Given the description of an element on the screen output the (x, y) to click on. 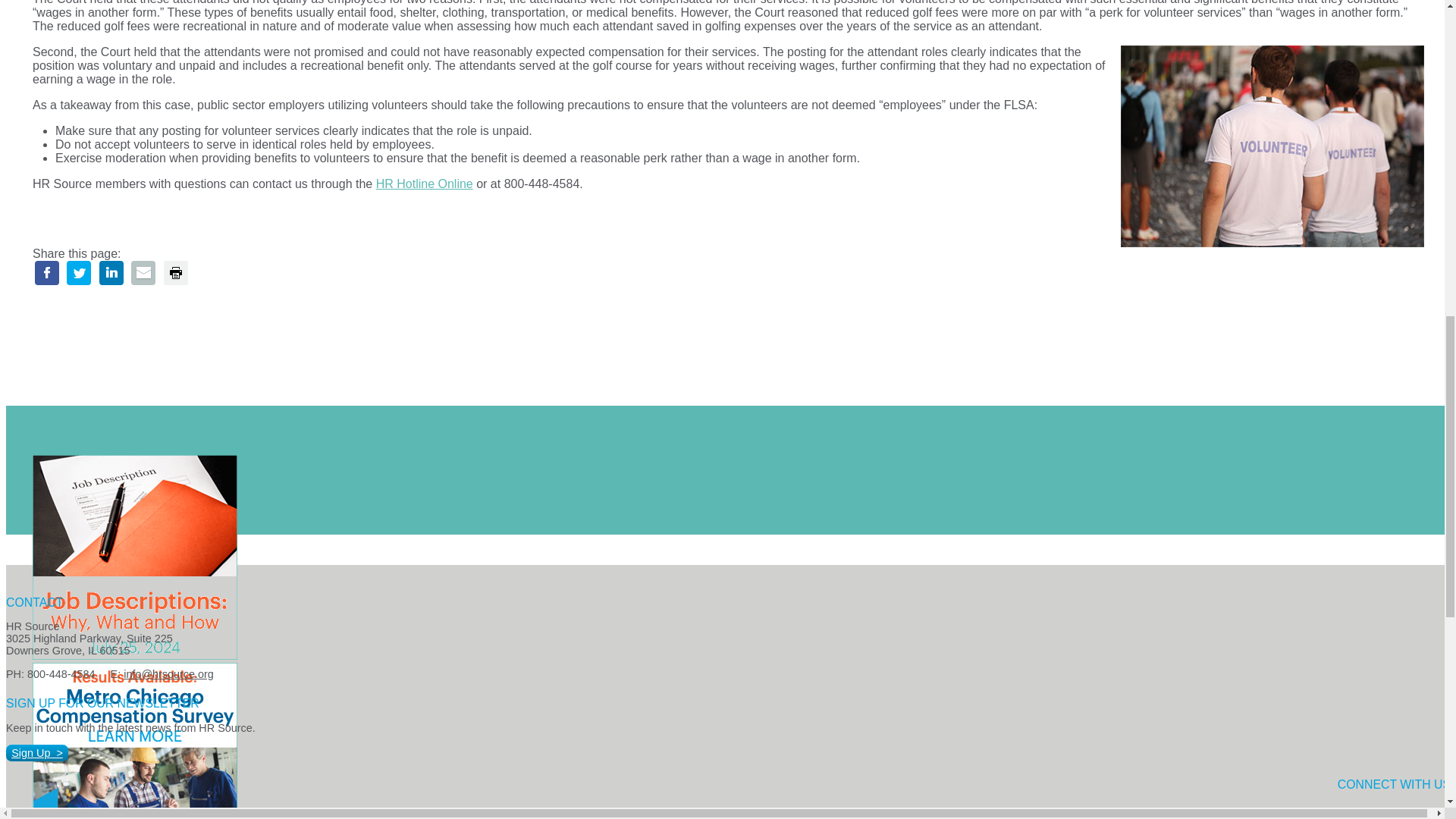
HR Hotline Online (424, 183)
Sign Up (36, 752)
